Given the description of an element on the screen output the (x, y) to click on. 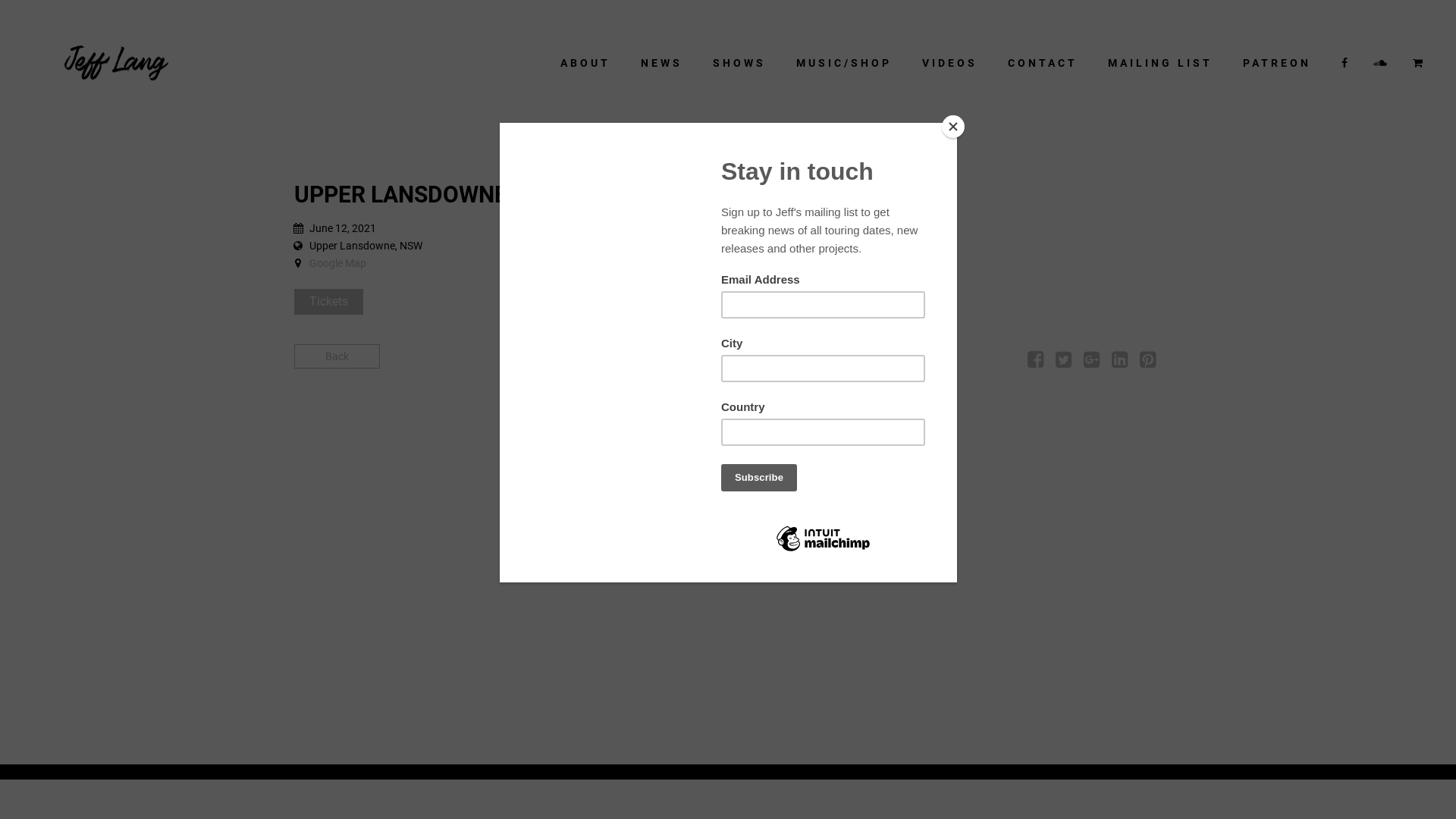
SoundCloud Element type: hover (1381, 62)
Bandcamp Element type: hover (1418, 62)
SHOWS Element type: text (739, 62)
Tickets Element type: text (328, 301)
Facebook Element type: hover (1345, 62)
Share on LinkedIn Element type: hover (1119, 362)
Share on Facebook Element type: hover (1035, 362)
MAILING LIST Element type: text (1160, 62)
ABOUT Element type: text (585, 62)
Share on Google+ Element type: hover (1091, 362)
VIDEOS Element type: text (949, 62)
CONTACT Element type: text (1042, 62)
Share on Twitter Element type: hover (1063, 362)
Back Element type: text (336, 356)
MUSIC/SHOP Element type: text (843, 62)
Google Map Element type: text (337, 263)
NEWS Element type: text (661, 62)
Share on Pinterest Element type: hover (1147, 362)
PATREON Element type: text (1276, 62)
